Given the description of an element on the screen output the (x, y) to click on. 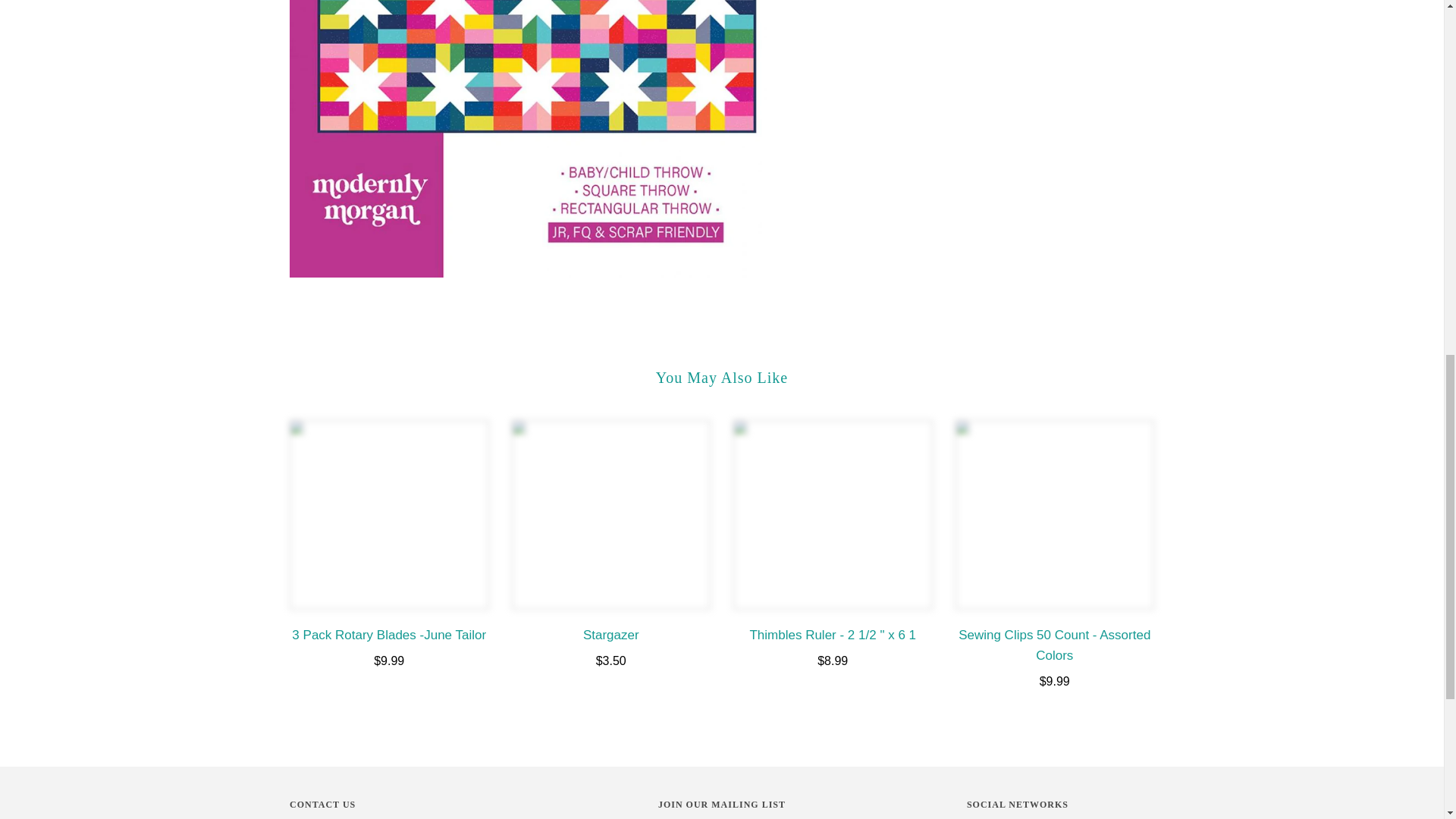
Sewing Clips 50 Count - Assorted Colors (1054, 514)
3 Pack Rotary Blades -June Tailor (389, 514)
Stargazer (610, 514)
